Given the description of an element on the screen output the (x, y) to click on. 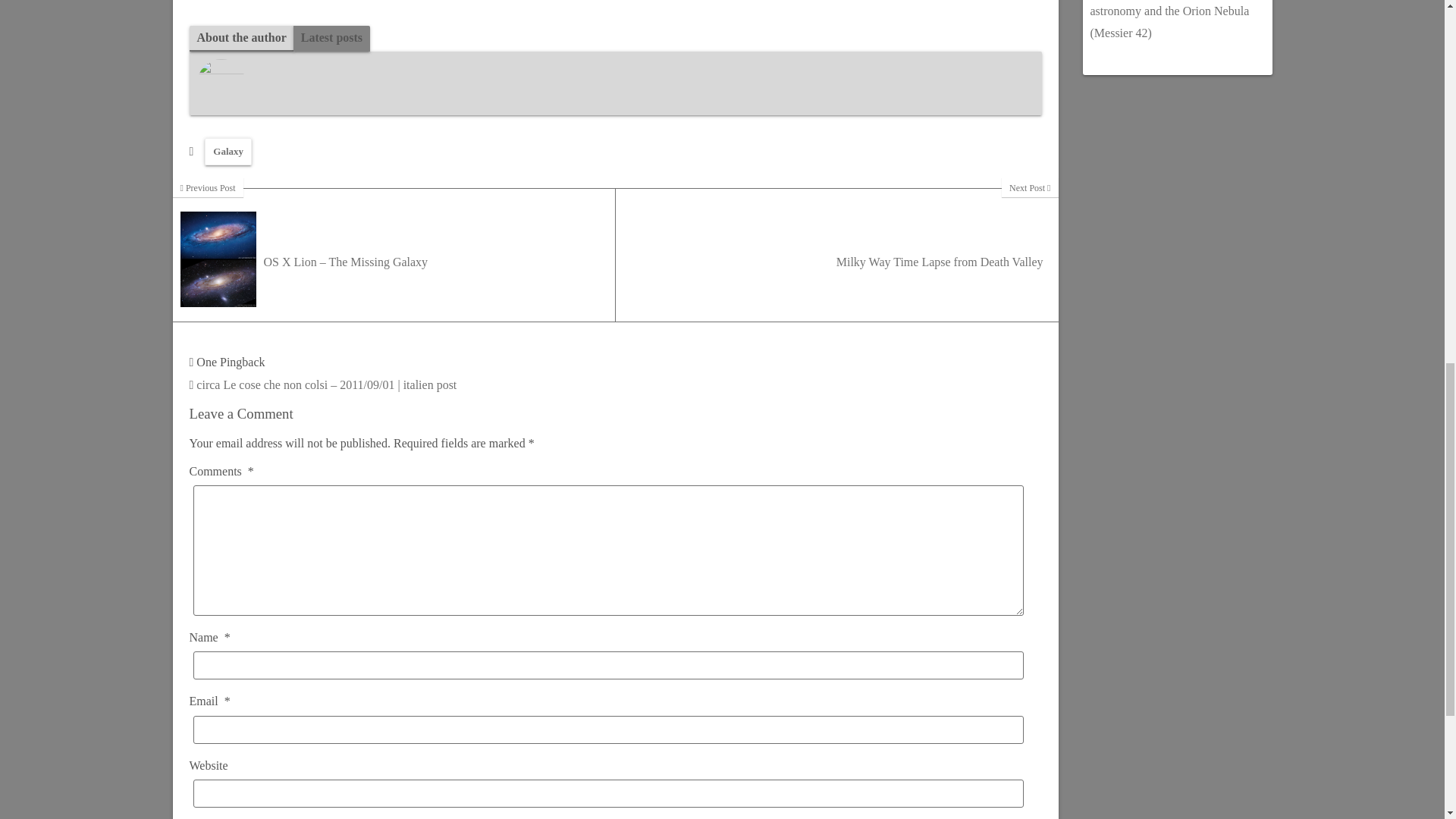
Milky Way Time Lapse from Death Valley (836, 255)
Galaxy (228, 151)
